Given the description of an element on the screen output the (x, y) to click on. 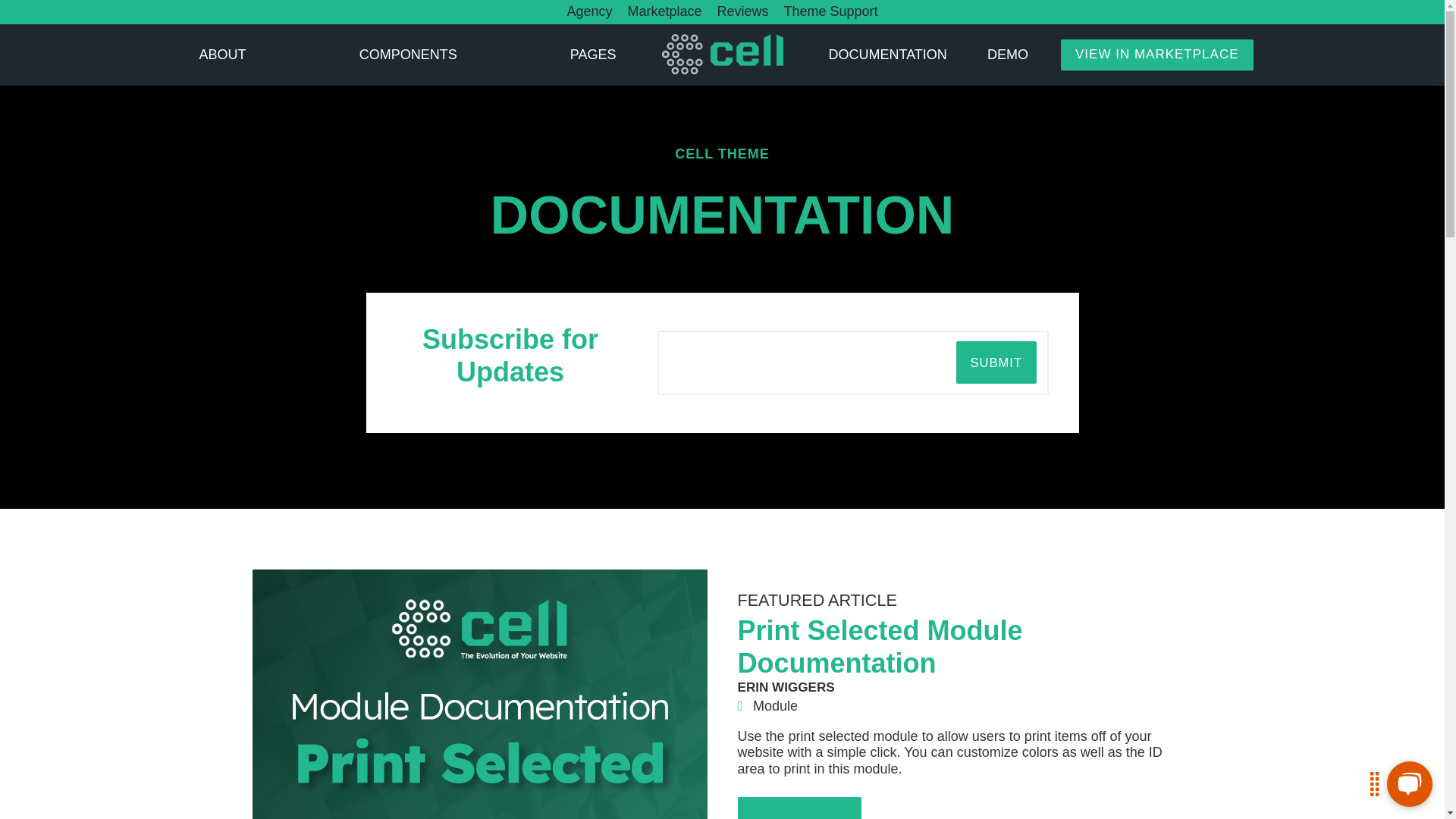
Theme Support (830, 11)
Agency (588, 11)
Submit (996, 362)
PAGES (593, 55)
Marketplace (664, 11)
cell-logo-lm (722, 54)
Reviews (742, 11)
ABOUT (221, 55)
COMPONENTS (408, 55)
